Given the description of an element on the screen output the (x, y) to click on. 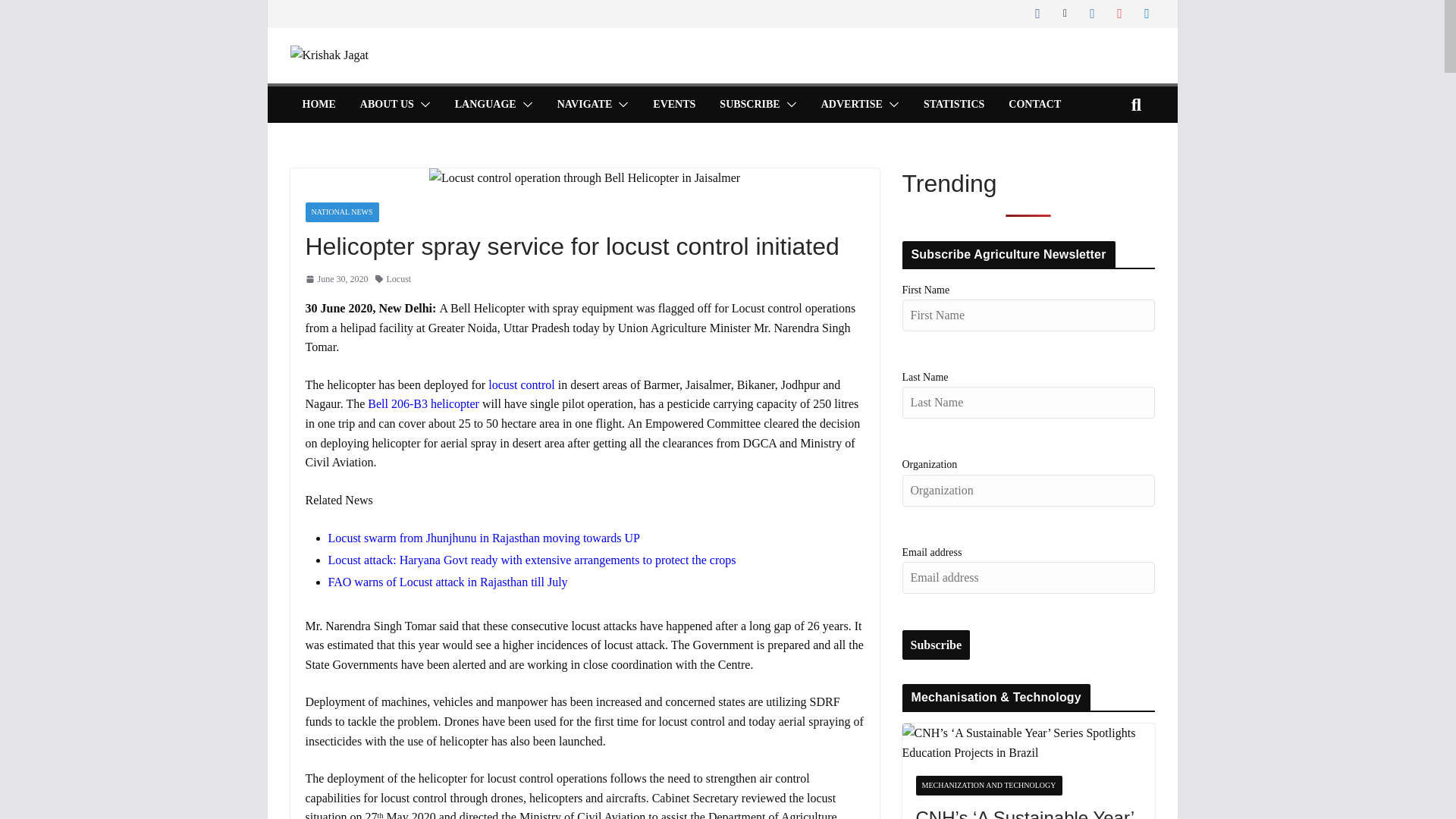
LANGUAGE (485, 104)
EVENTS (673, 104)
Subscribe (936, 644)
SUBSCRIBE (748, 104)
7:01 pm (336, 278)
ADVERTISE (851, 104)
ABOUT US (386, 104)
NAVIGATE (584, 104)
HOME (317, 104)
